Given the description of an element on the screen output the (x, y) to click on. 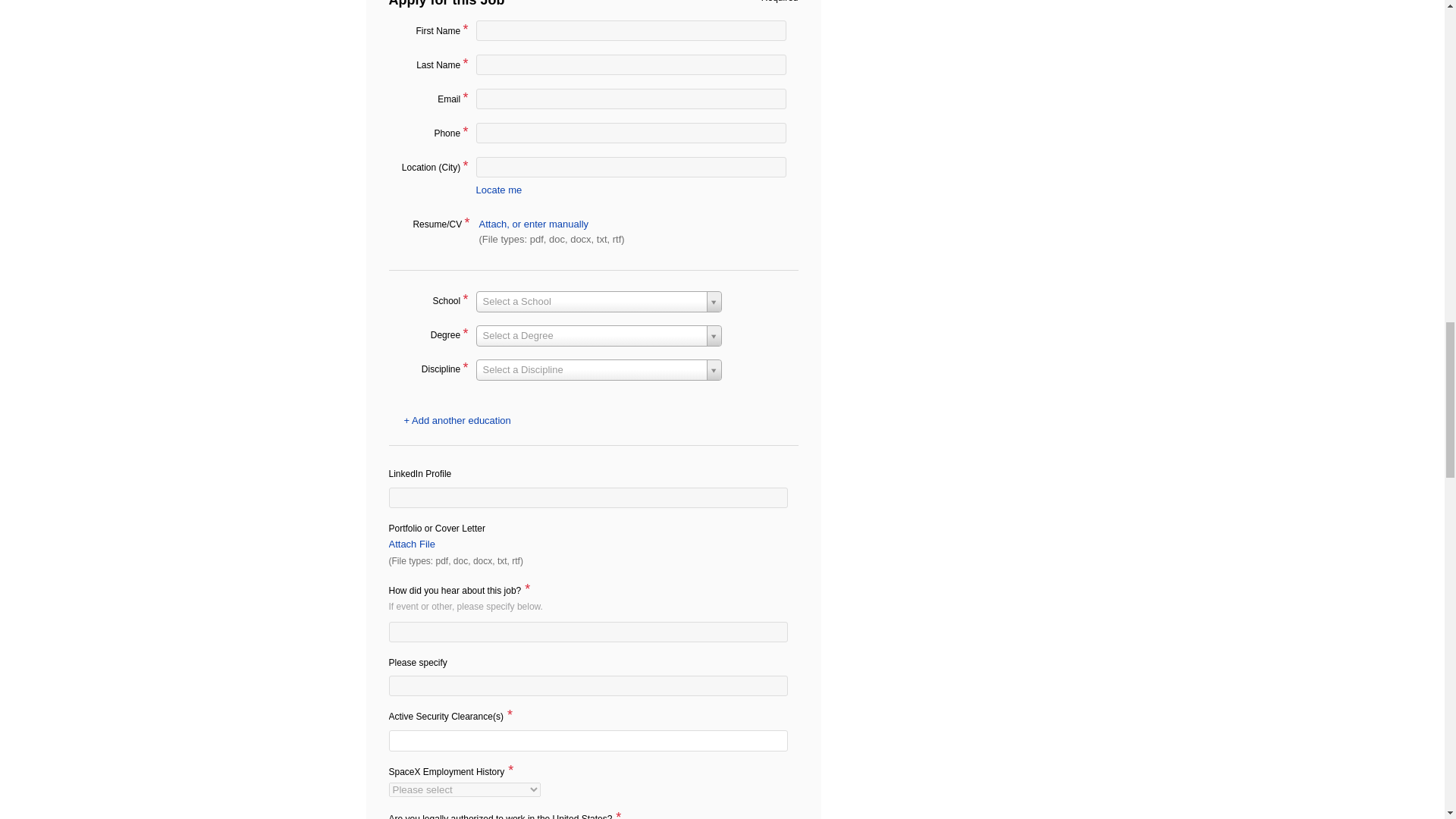
Locate me (499, 189)
Attach (494, 224)
or enter manually (550, 224)
Select a School (599, 301)
Select a Discipline (599, 369)
Attach File (410, 543)
Select a Degree (599, 335)
